Given the description of an element on the screen output the (x, y) to click on. 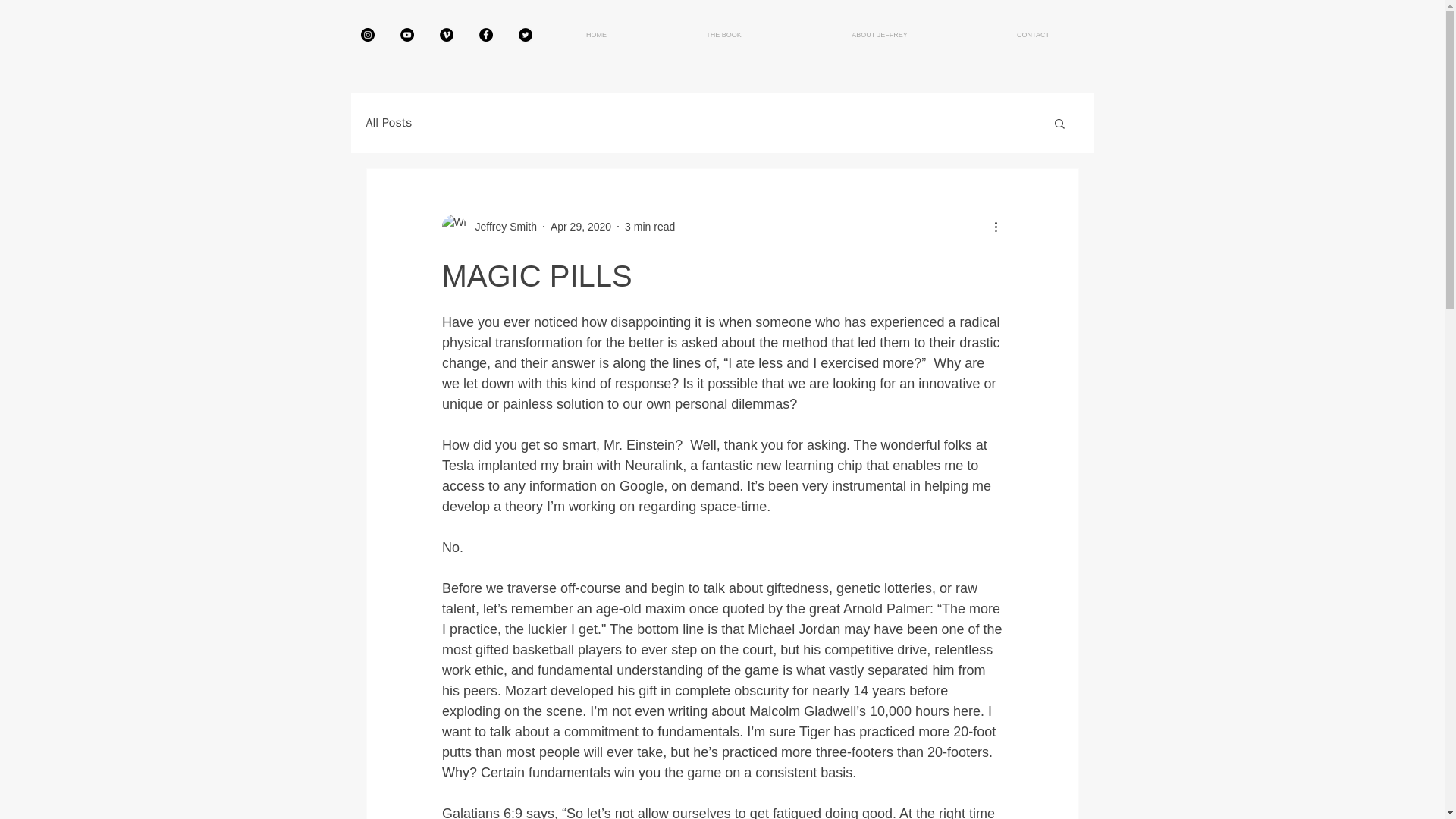
CONTACT (1033, 35)
3 min read (649, 225)
Apr 29, 2020 (580, 225)
THE BOOK (723, 35)
ABOUT JEFFREY (879, 35)
All Posts (388, 123)
HOME (595, 35)
Jeffrey Smith (500, 226)
